Given the description of an element on the screen output the (x, y) to click on. 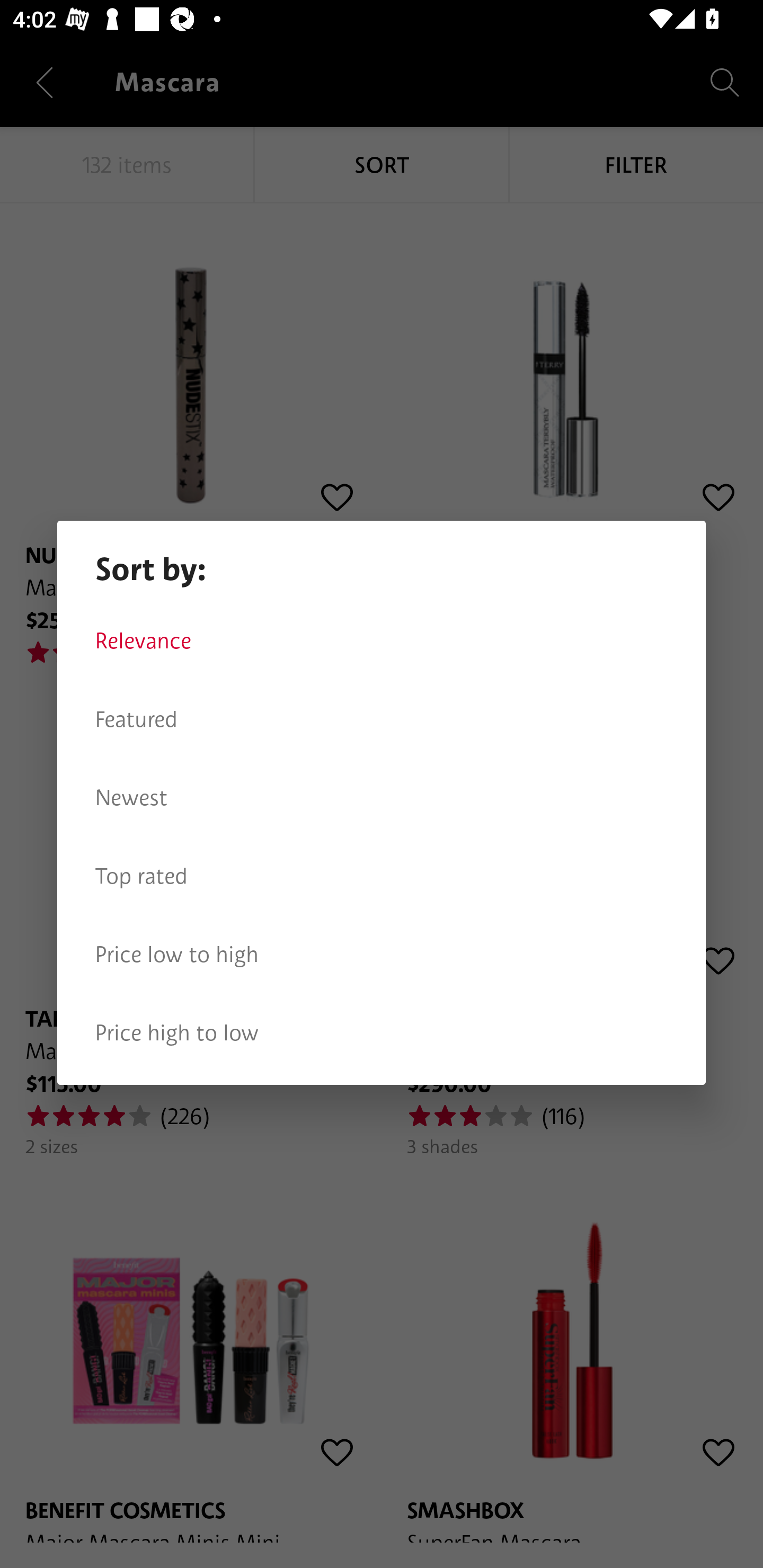
Relevance (381, 641)
Featured (381, 719)
Newest (381, 797)
Top rated (381, 876)
Price low to high (381, 954)
Price high to low (381, 1033)
